Given the description of an element on the screen output the (x, y) to click on. 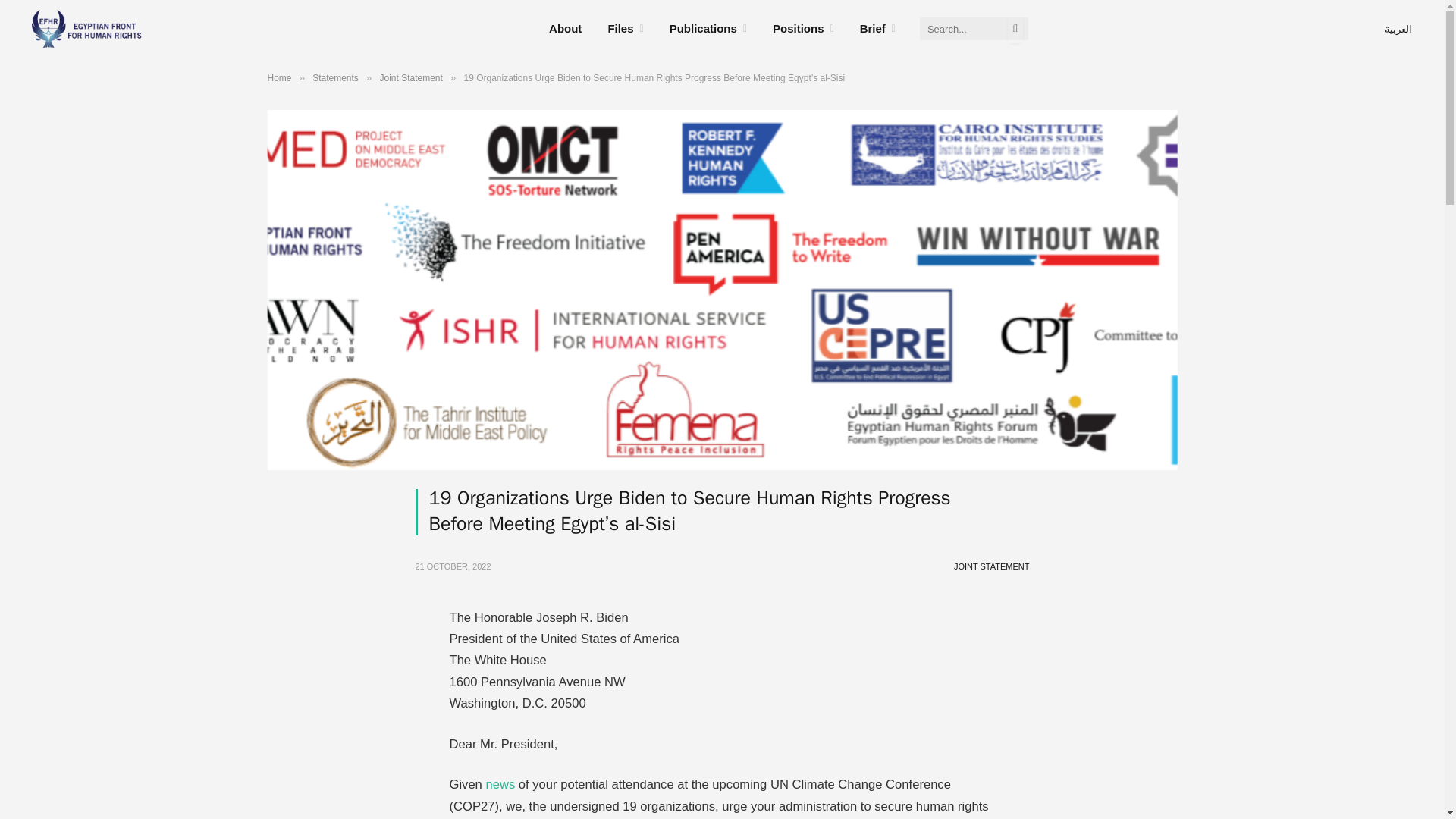
About (564, 28)
Files (625, 28)
Egyptian Front for Human Rights (83, 28)
